Given the description of an element on the screen output the (x, y) to click on. 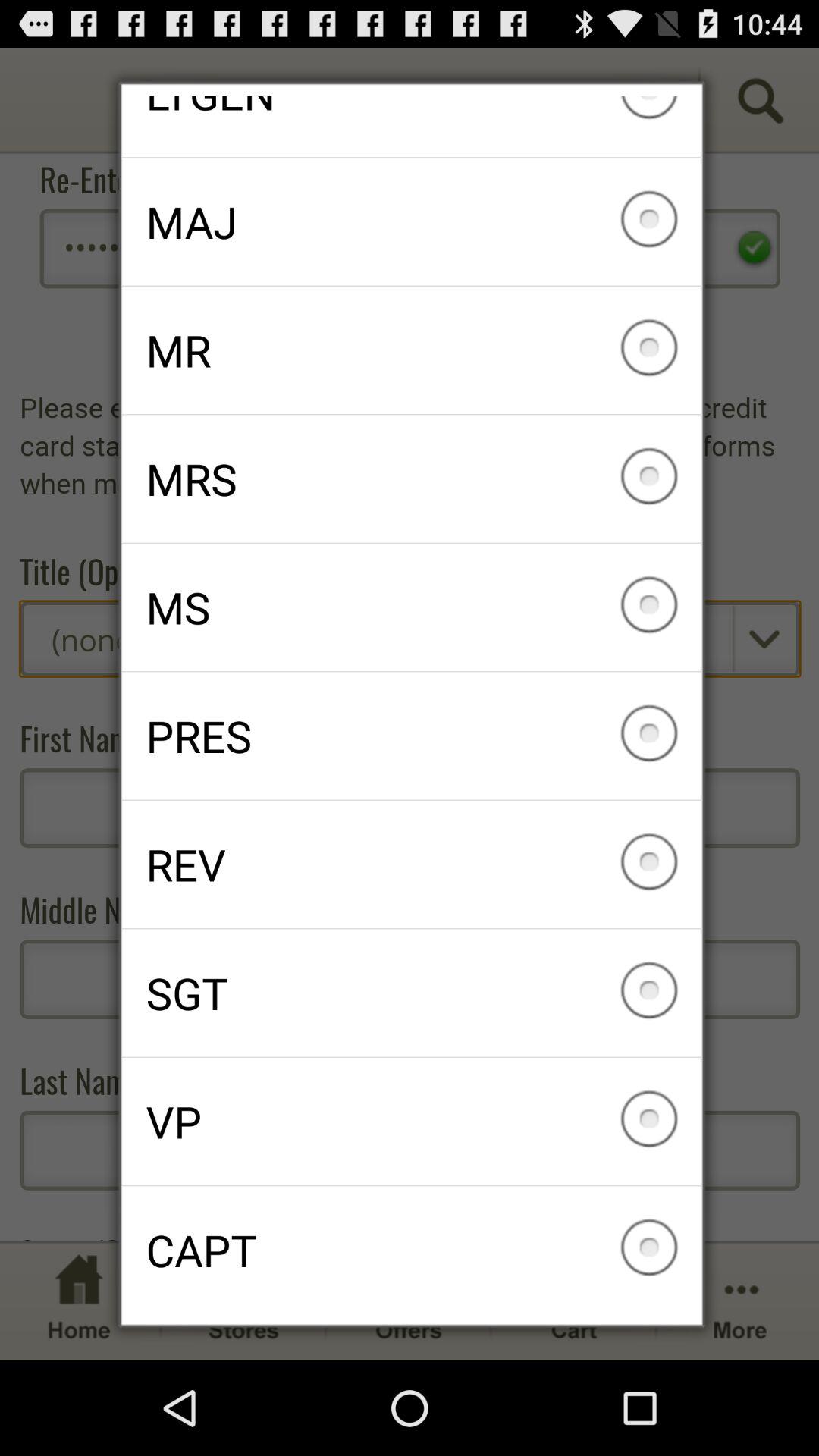
launch the item above vp (411, 992)
